Given the description of an element on the screen output the (x, y) to click on. 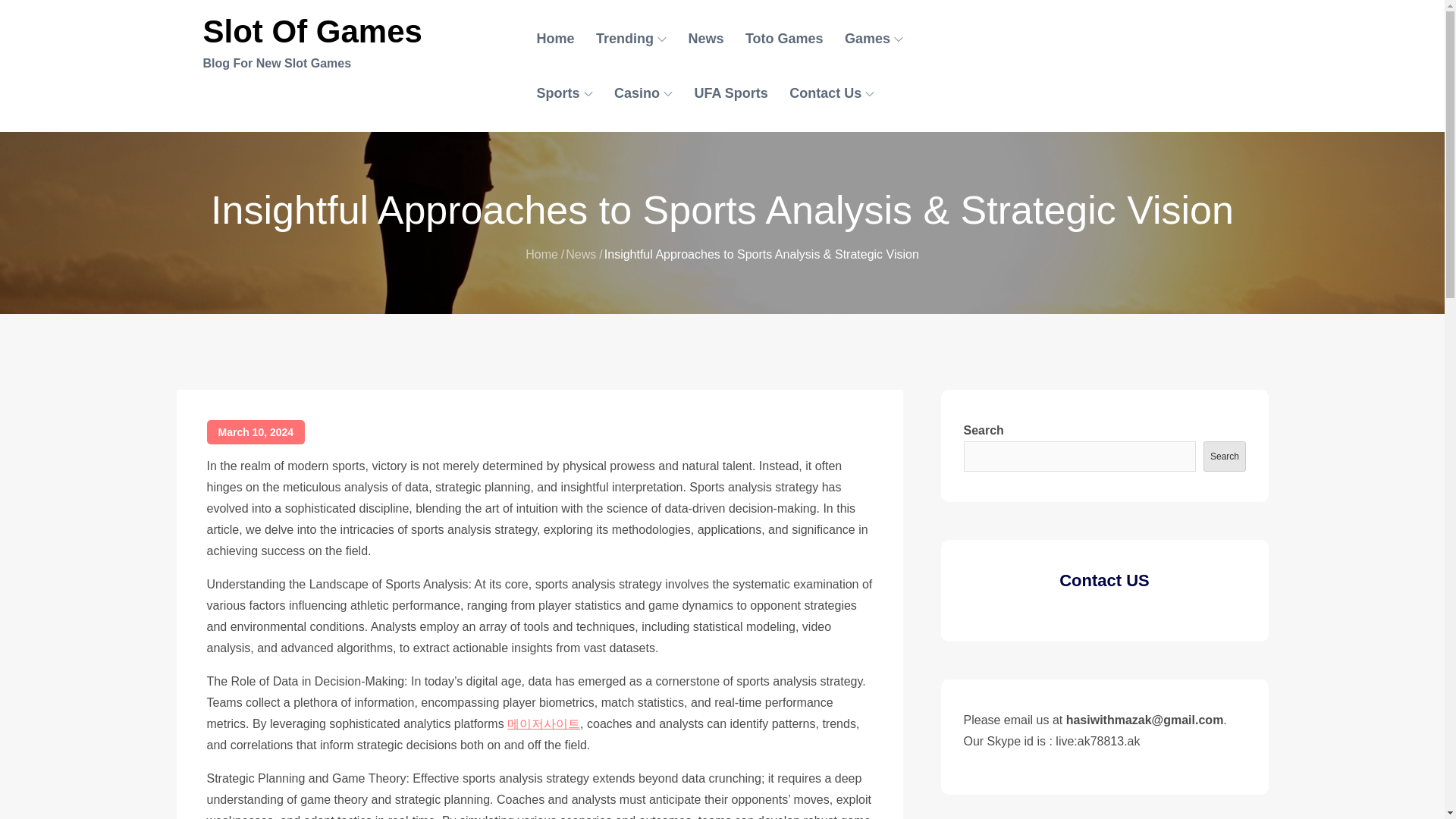
Home (541, 254)
News (705, 38)
Slot Of Games (312, 31)
Trending (630, 38)
Toto Games (784, 38)
UFA Sports (730, 93)
Contact Us (831, 93)
March 10, 2024 (255, 432)
News (580, 254)
Casino (643, 93)
Search (1224, 456)
Home (555, 38)
Sports (564, 93)
Games (873, 38)
